Given the description of an element on the screen output the (x, y) to click on. 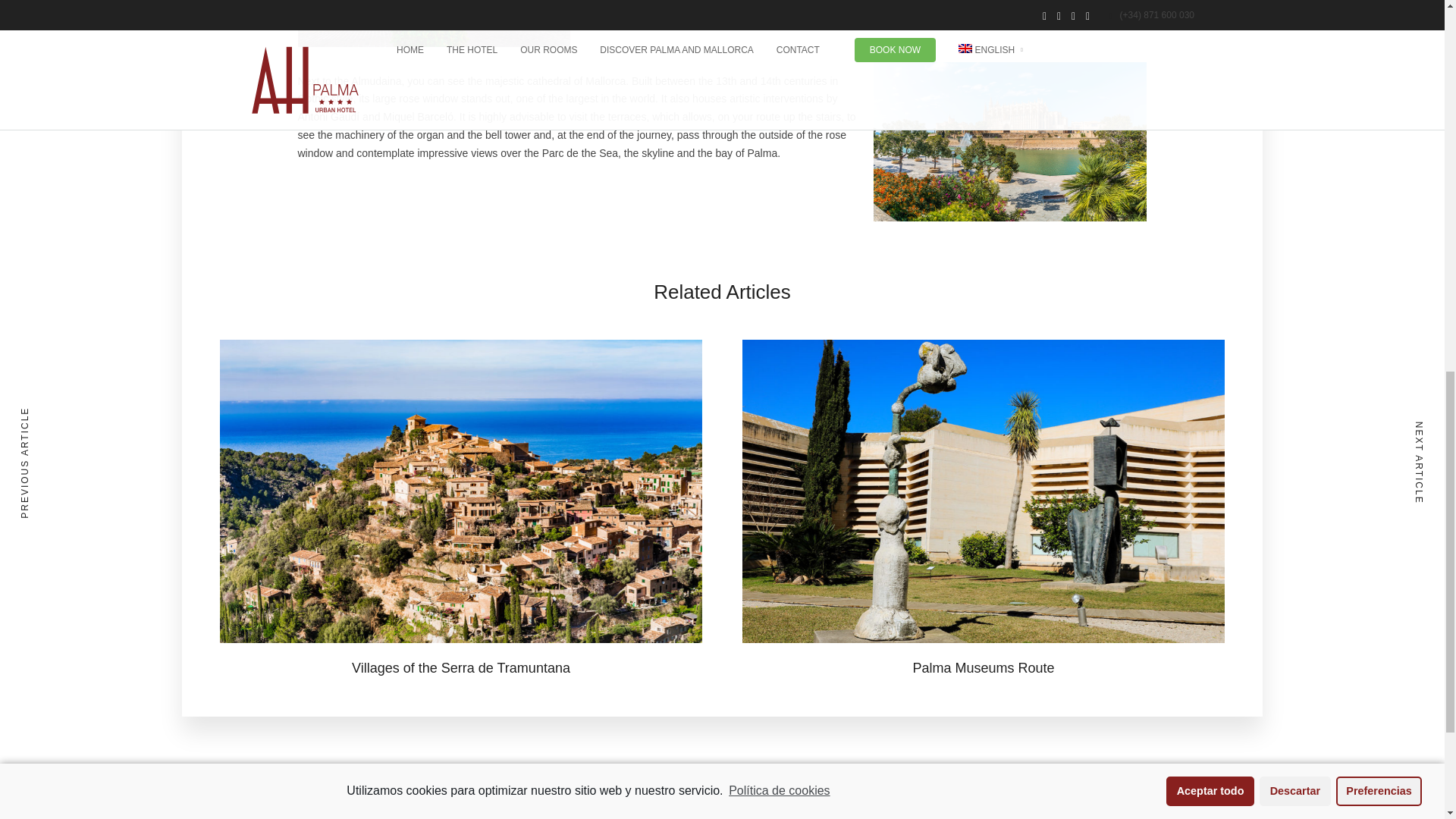
Villages of the Serra de Tramuntana (461, 667)
Palma Museums Route (983, 667)
Palma Museums Route (983, 667)
Villages of the Serra de Tramuntana (461, 667)
